Given the description of an element on the screen output the (x, y) to click on. 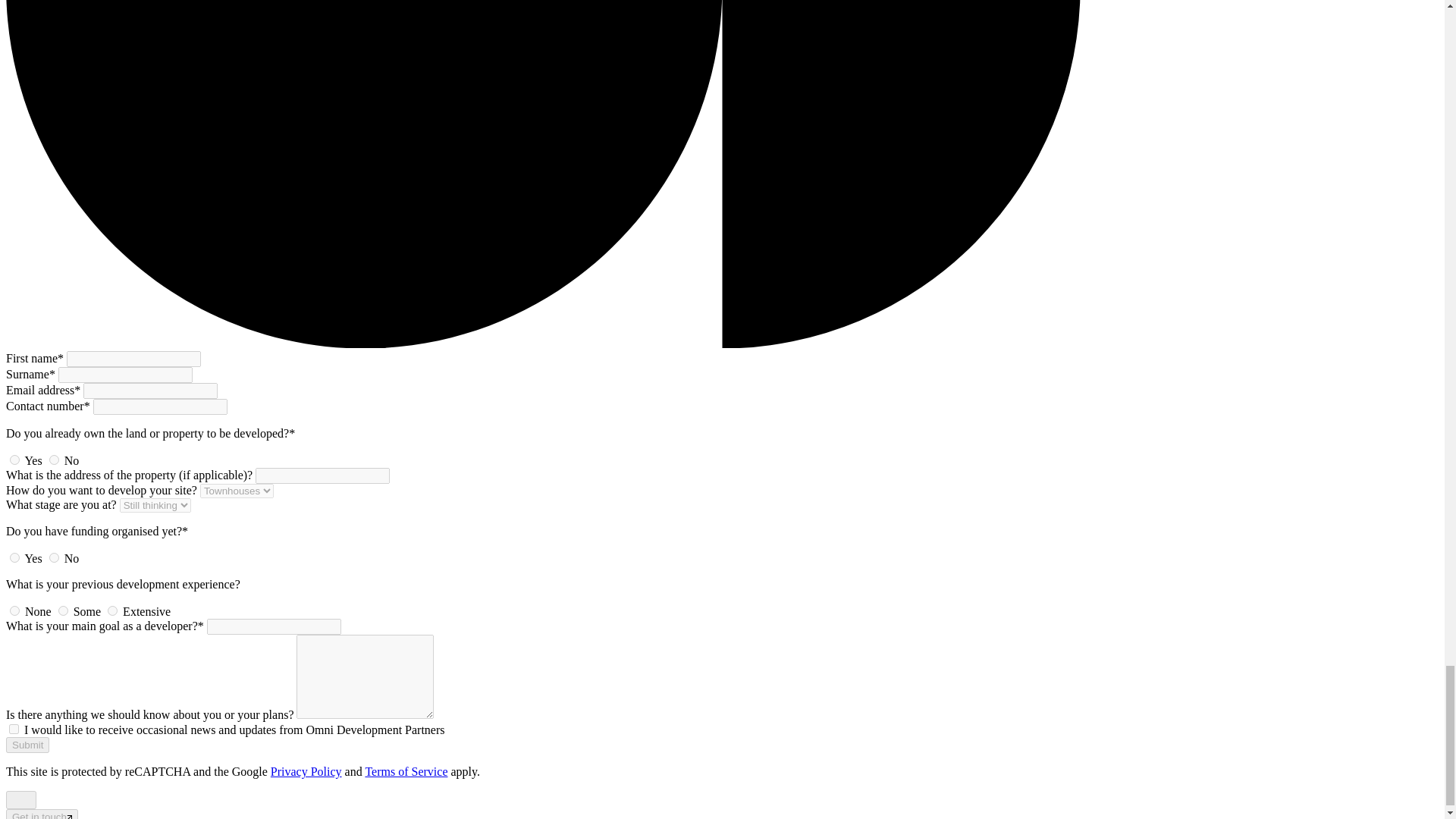
No (54, 460)
No (54, 557)
Yes (15, 460)
true (13, 728)
None (15, 610)
Extensive (112, 610)
Yes (15, 557)
Some (63, 610)
